Given the description of an element on the screen output the (x, y) to click on. 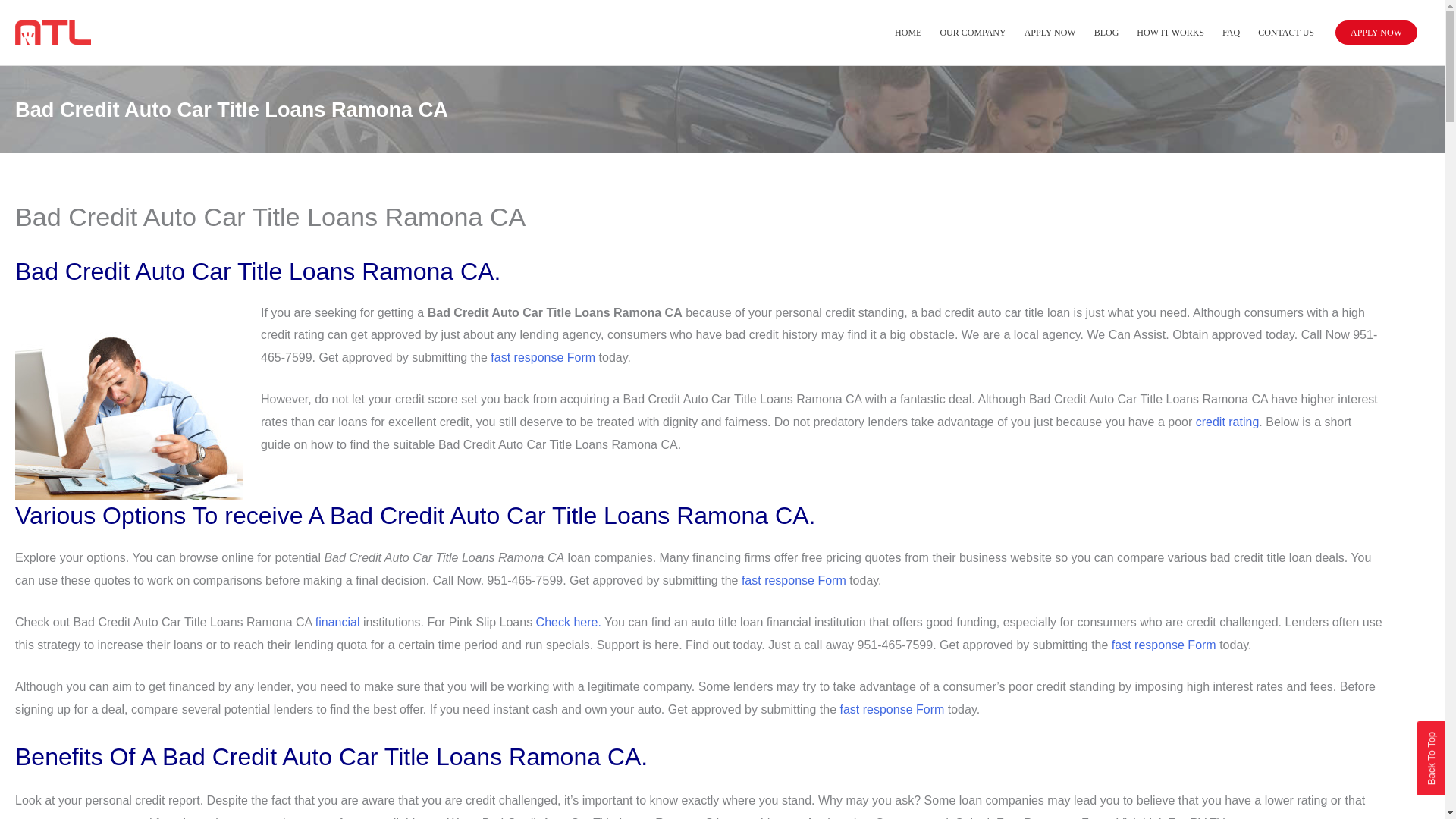
APPLY NOW (1049, 32)
CONTACT US (1286, 32)
fast response Form (793, 580)
fast response Form (1163, 644)
APPLY NOW (1375, 32)
OUR COMPANY (972, 32)
fast response Form (892, 708)
Bad Credit Auto Car Title Loans Ramona CA (128, 401)
financial (337, 621)
HOME (907, 32)
credit rating (1227, 421)
HOW IT WORKS (1169, 32)
Check here. (568, 621)
fast response Form (542, 357)
